Given the description of an element on the screen output the (x, y) to click on. 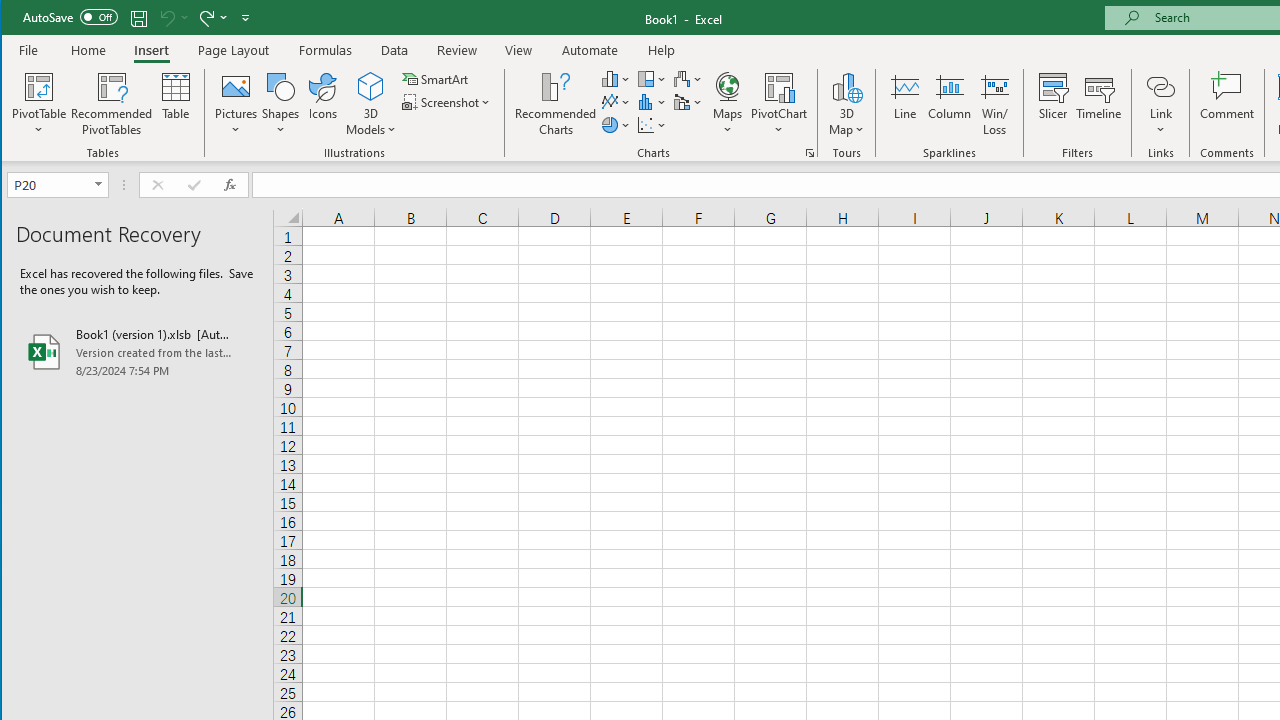
PivotTable (39, 86)
Table (175, 104)
Link (1160, 86)
Icons (323, 104)
Redo (205, 17)
Column (949, 104)
Link (1160, 104)
Open (99, 184)
Name Box (57, 184)
Insert Waterfall, Funnel, Stock, Surface, or Radar Chart (688, 78)
Line (904, 104)
Pictures (235, 104)
Maps (727, 104)
Insert Combo Chart (688, 101)
